Given the description of an element on the screen output the (x, y) to click on. 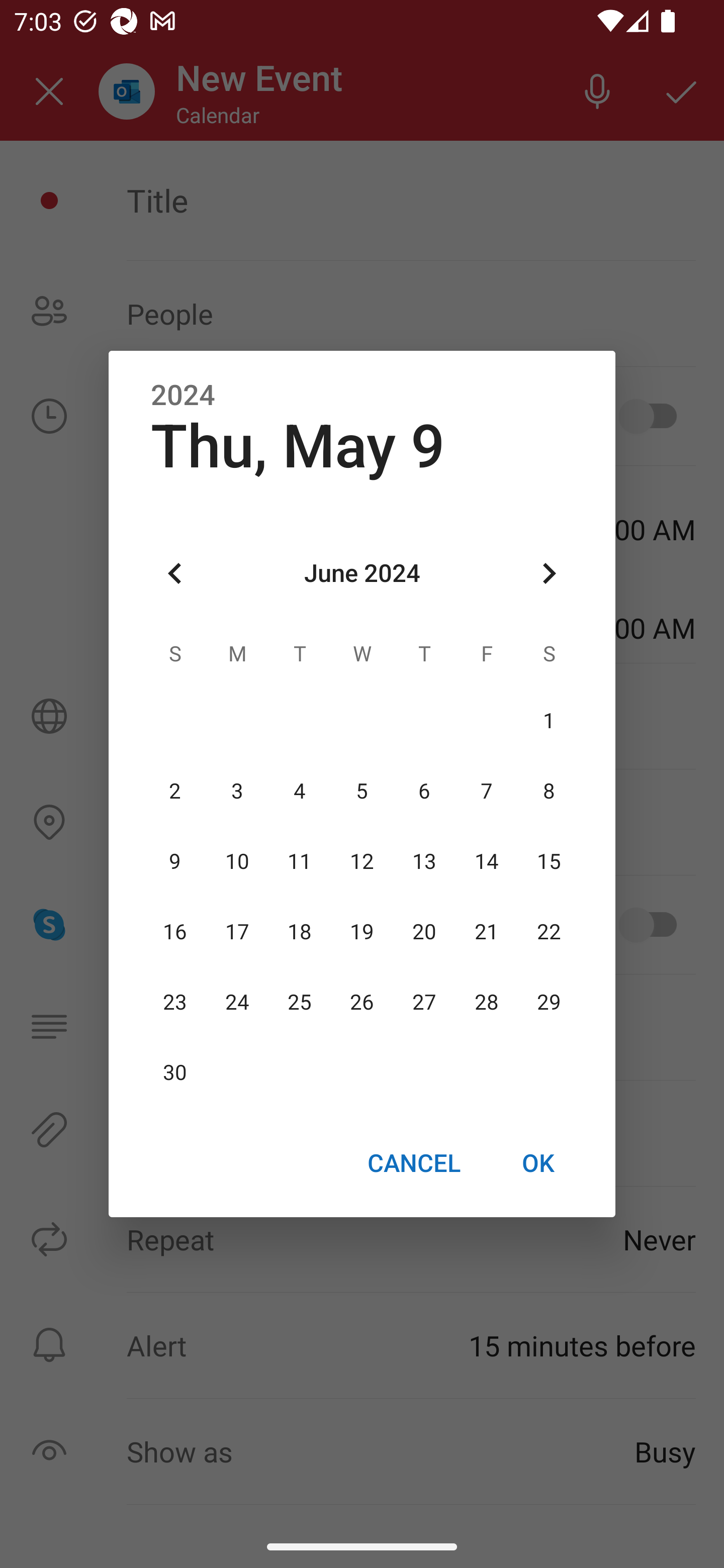
2024 (182, 395)
Thu, May 9 (297, 446)
Previous month (174, 573)
Next month (548, 573)
1 01 June 2024 (548, 720)
2 02 June 2024 (175, 790)
3 03 June 2024 (237, 790)
4 04 June 2024 (299, 790)
5 05 June 2024 (361, 790)
6 06 June 2024 (424, 790)
7 07 June 2024 (486, 790)
8 08 June 2024 (548, 790)
9 09 June 2024 (175, 861)
10 10 June 2024 (237, 861)
11 11 June 2024 (299, 861)
12 12 June 2024 (361, 861)
13 13 June 2024 (424, 861)
14 14 June 2024 (486, 861)
15 15 June 2024 (548, 861)
16 16 June 2024 (175, 931)
17 17 June 2024 (237, 931)
18 18 June 2024 (299, 931)
19 19 June 2024 (361, 931)
20 20 June 2024 (424, 931)
21 21 June 2024 (486, 931)
22 22 June 2024 (548, 931)
23 23 June 2024 (175, 1002)
24 24 June 2024 (237, 1002)
25 25 June 2024 (299, 1002)
26 26 June 2024 (361, 1002)
27 27 June 2024 (424, 1002)
28 28 June 2024 (486, 1002)
29 29 June 2024 (548, 1002)
30 30 June 2024 (175, 1073)
CANCEL (413, 1162)
OK (537, 1162)
